Given the description of an element on the screen output the (x, y) to click on. 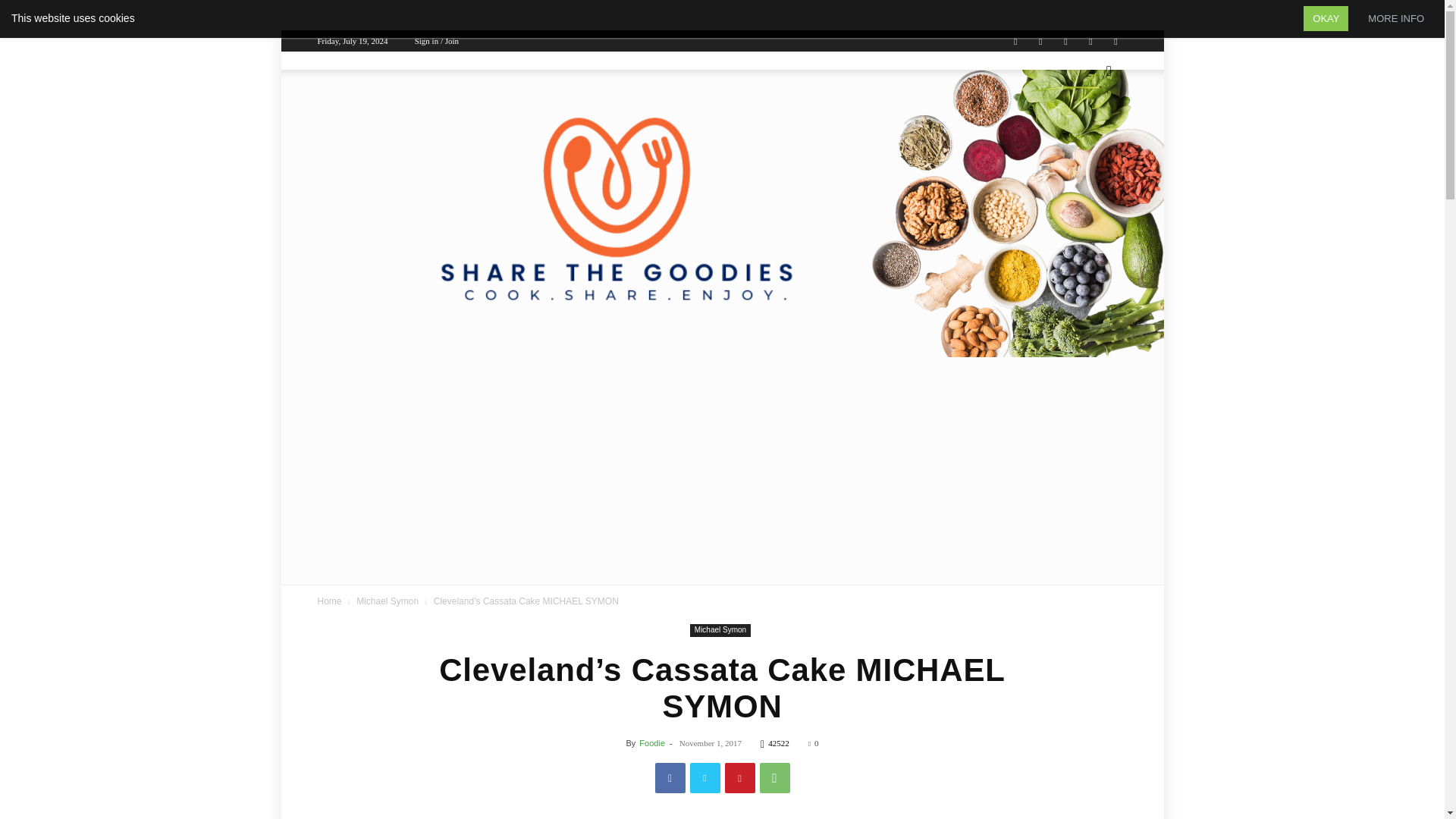
Search (1085, 133)
Foodie (652, 742)
Pinterest (740, 777)
Facebook (1040, 40)
Twitter (1065, 40)
WhatsApp (775, 777)
Facebook (670, 777)
Youtube (1114, 40)
Evernote (1015, 40)
Twitter (705, 777)
0 (813, 742)
View all posts in Michael Symon (387, 601)
VKontakte (1090, 40)
